Given the description of an element on the screen output the (x, y) to click on. 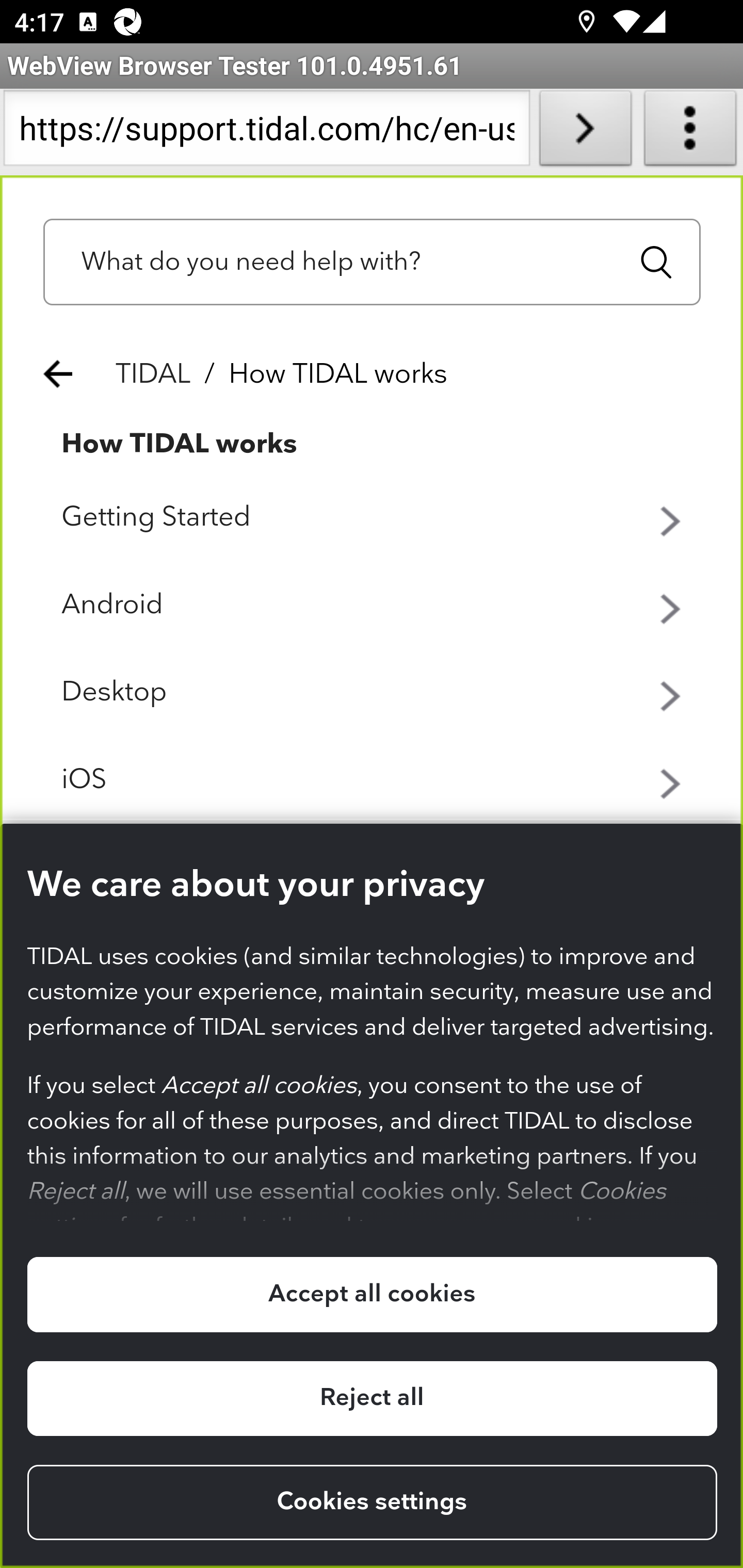
Load URL (585, 132)
About WebView (690, 132)
TIDAL (153, 374)
How TIDAL works (179, 444)
Getting Started (372, 517)
Android (372, 605)
Desktop (372, 692)
iOS (372, 779)
Accept all cookies (371, 1293)
Reject all (371, 1397)
Cookies settings (371, 1502)
